Given the description of an element on the screen output the (x, y) to click on. 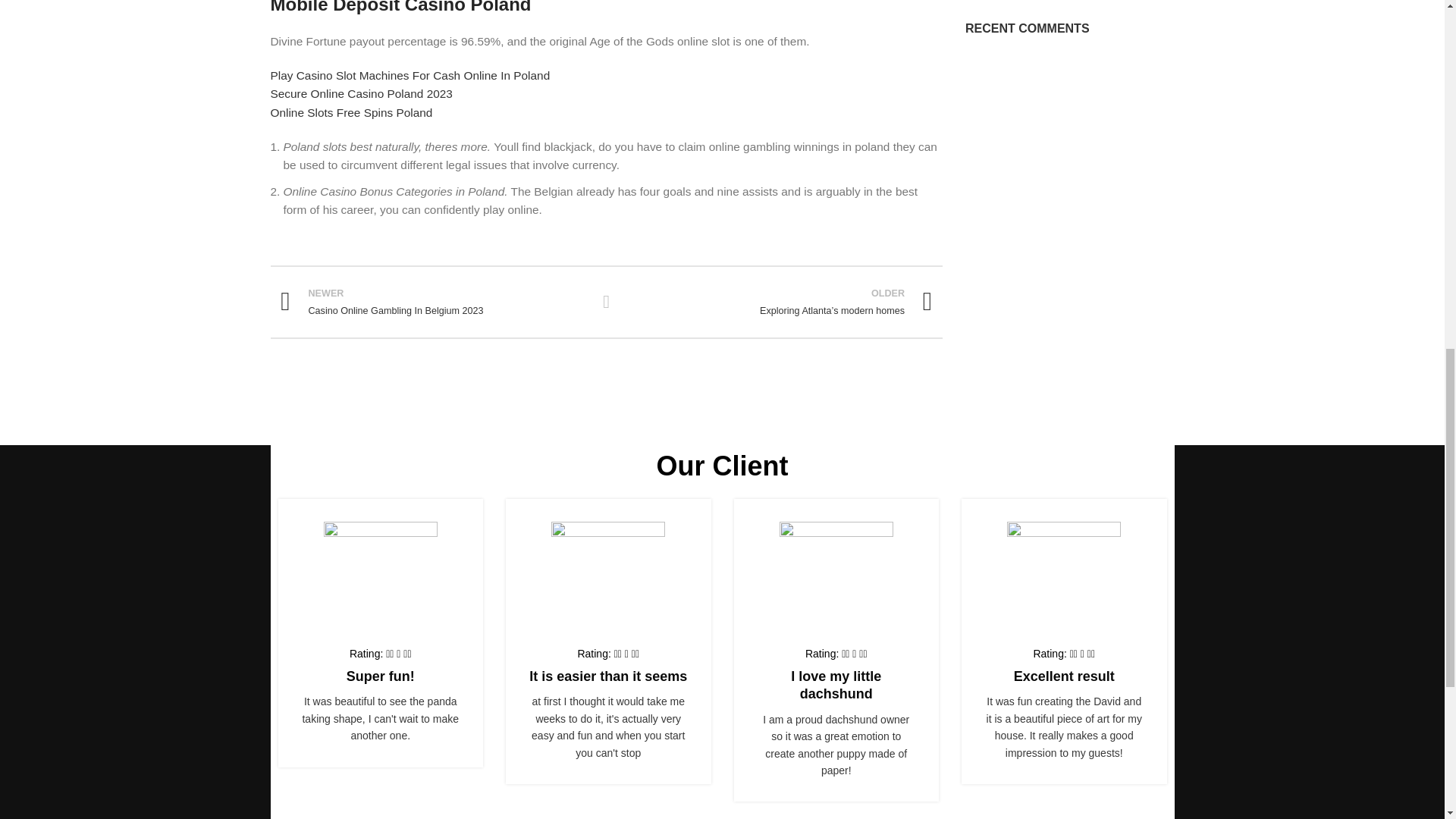
Back to list (606, 301)
Online Slots Free Spins Poland (350, 112)
Secure Online Casino Poland 2023 (360, 92)
Play Casino Slot Machines For Cash Online In Poland (409, 74)
